Given the description of an element on the screen output the (x, y) to click on. 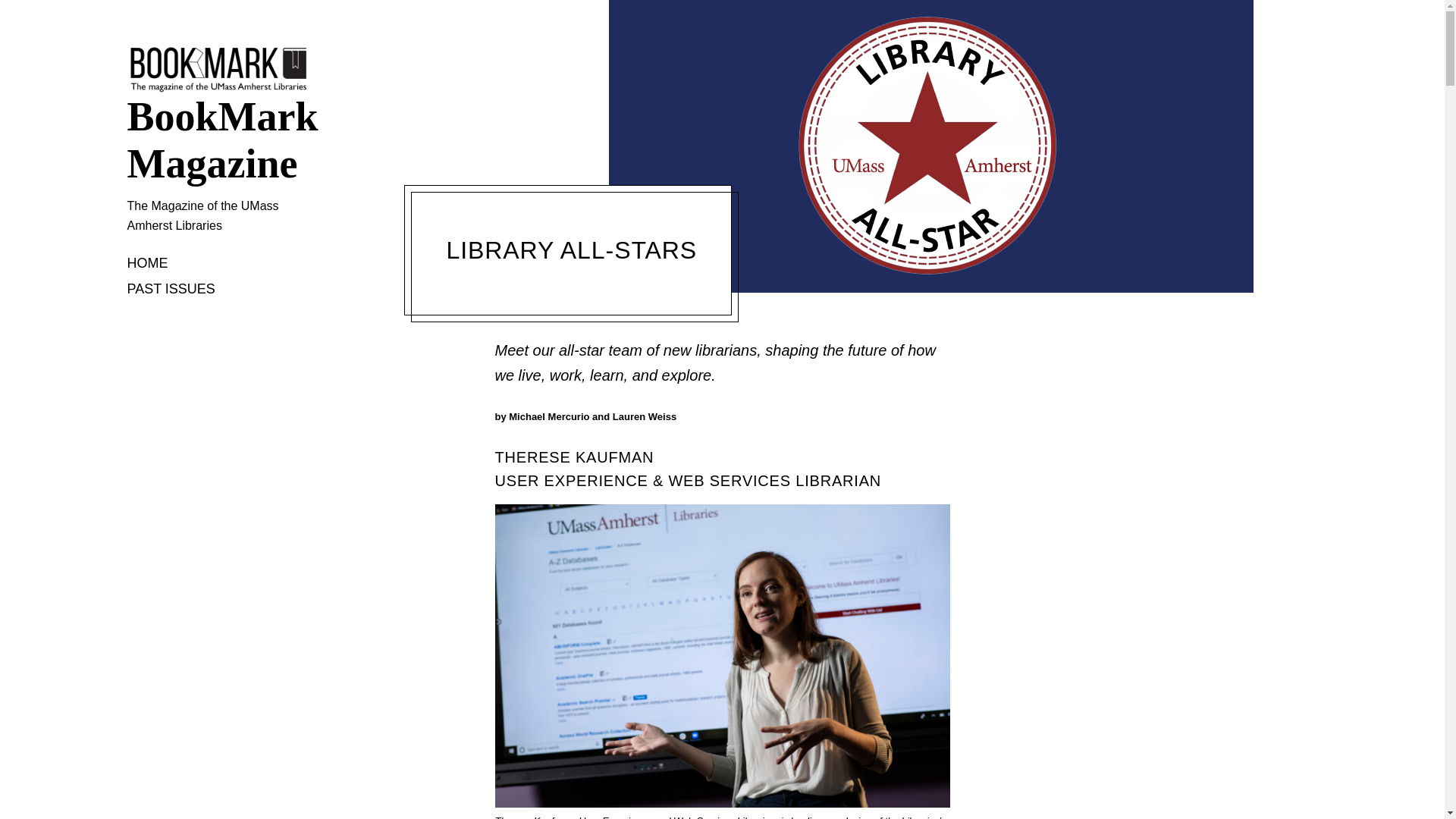
Search (26, 14)
BookMark Magazine (218, 140)
HOME (148, 263)
PAST ISSUES (171, 290)
